Given the description of an element on the screen output the (x, y) to click on. 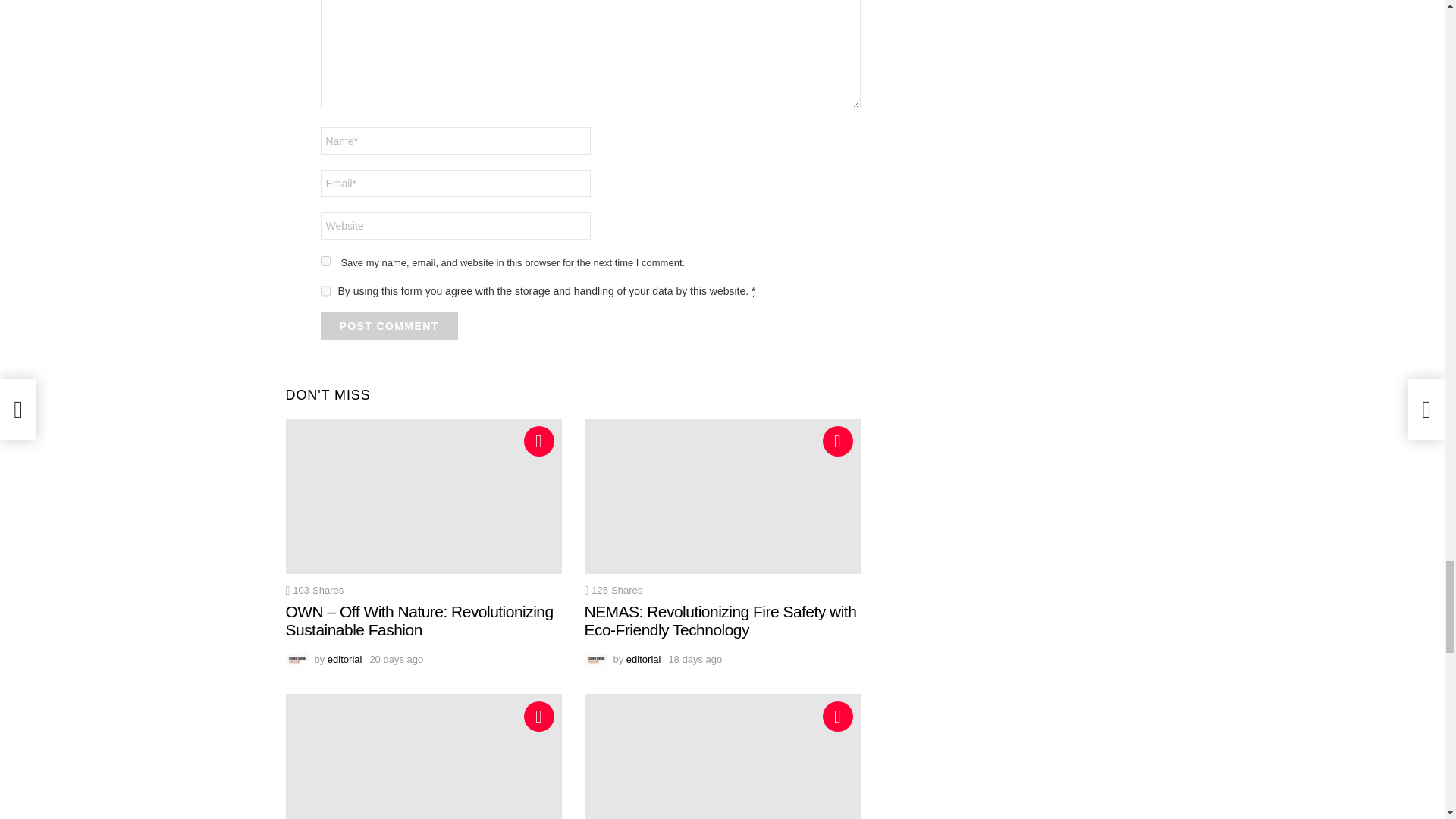
Post Comment (388, 325)
yes (325, 261)
